Given the description of an element on the screen output the (x, y) to click on. 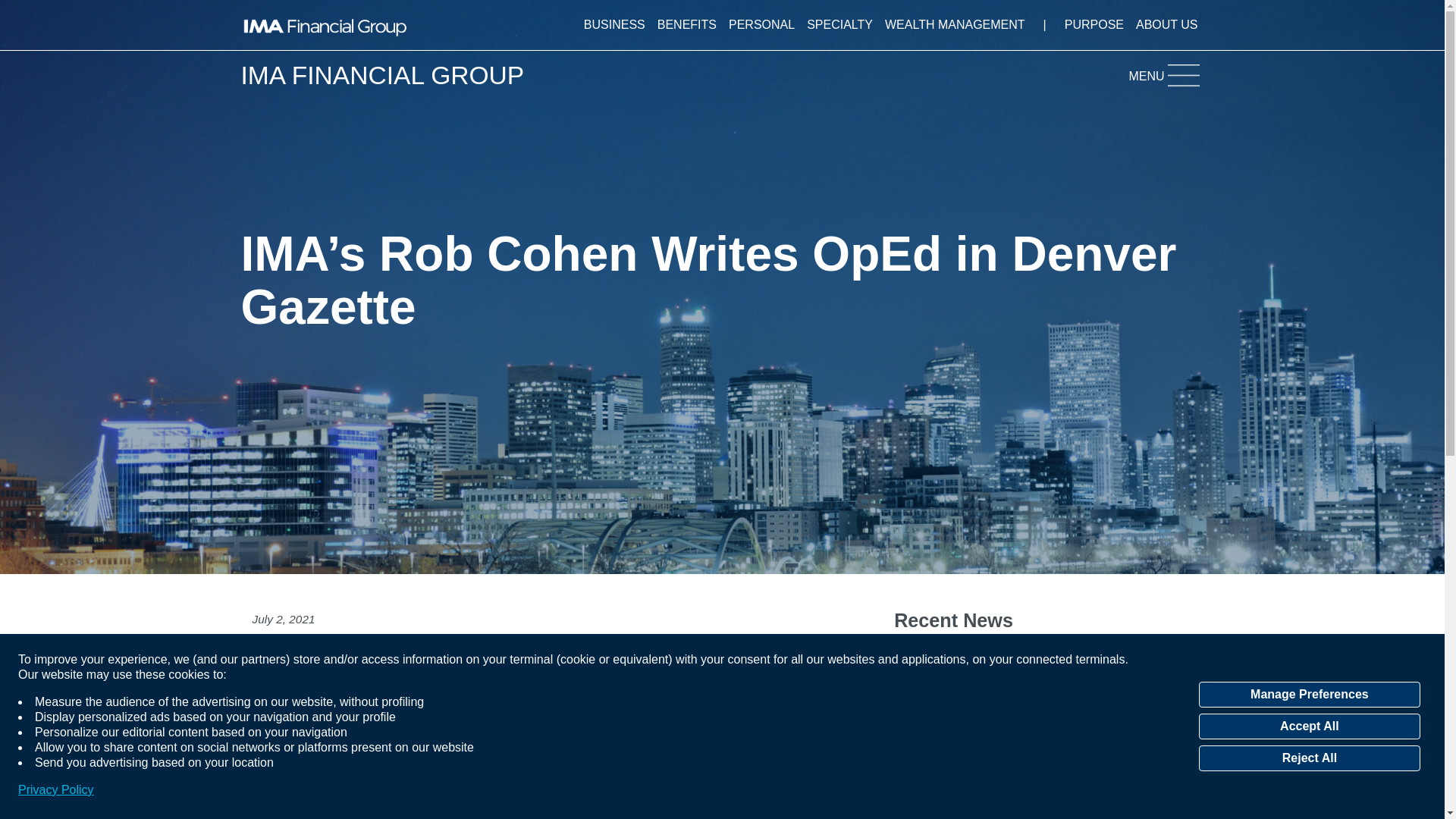
Read more (282, 770)
WEALTH MANAGEMENT (954, 24)
Specialty (839, 24)
BUSINESS (614, 24)
Benefits (686, 24)
Accept All (1309, 726)
Reject All (1309, 758)
IMA Financial Group (324, 24)
BENEFITS (686, 24)
SPECIALTY (839, 24)
